Given the description of an element on the screen output the (x, y) to click on. 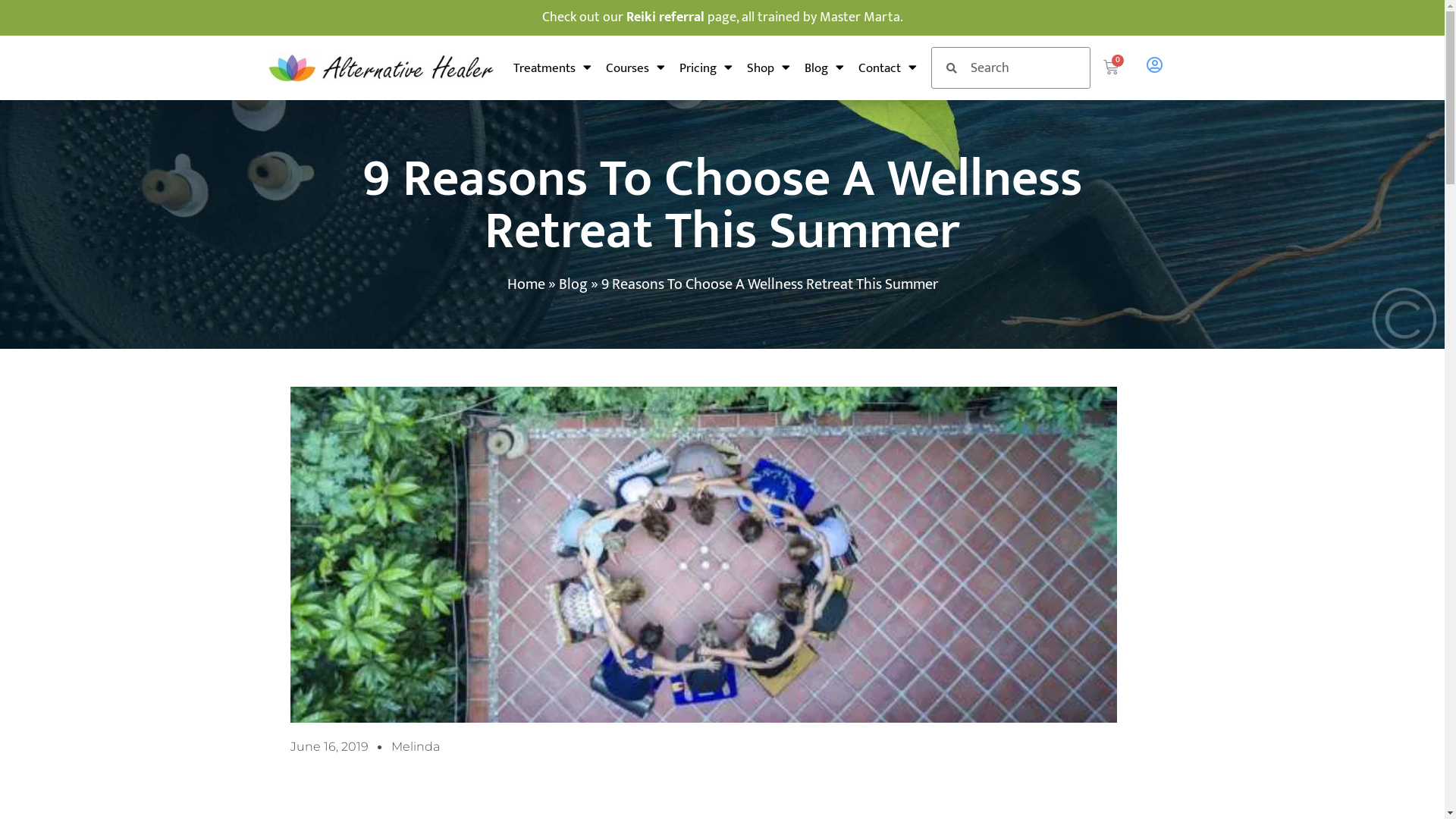
June 16, 2019 Element type: text (328, 746)
Blog Element type: text (824, 67)
Courses Element type: text (635, 67)
Shop Element type: text (768, 67)
Reiki referral Element type: text (665, 17)
65098229_451956082249711_7870931996925493248_n Element type: hover (702, 554)
Treatments Element type: text (552, 67)
Home Element type: text (525, 284)
Blog Element type: text (572, 284)
Pricing Element type: text (705, 67)
Search Element type: hover (1023, 67)
Melinda Element type: text (415, 746)
Contact Element type: text (887, 67)
